Given the description of an element on the screen output the (x, y) to click on. 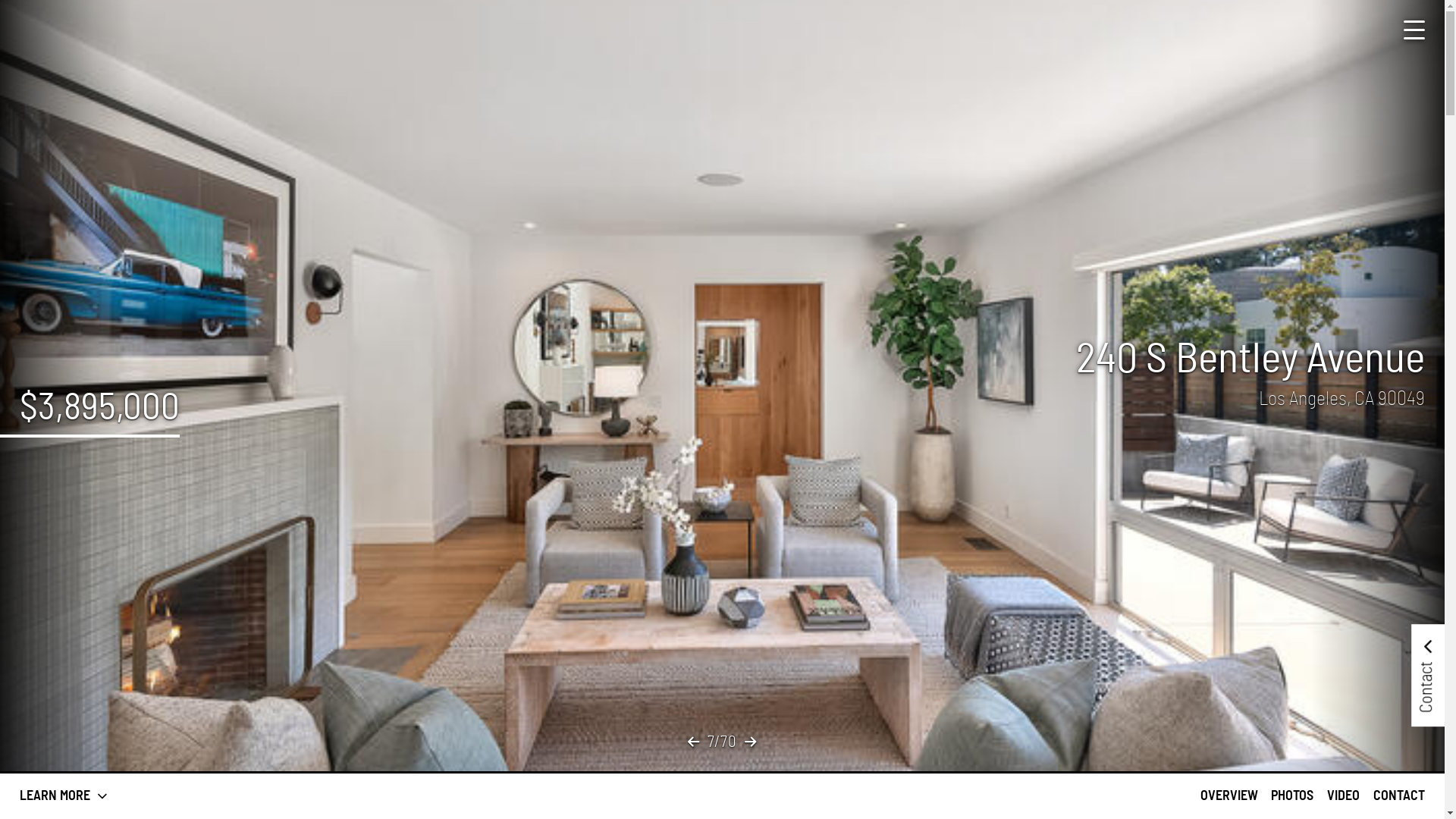
PHOTOS Element type: text (1291, 796)
CONTACT Element type: text (1398, 796)
OVERVIEW Element type: text (1229, 796)
VIDEO Element type: text (1343, 796)
